Given the description of an element on the screen output the (x, y) to click on. 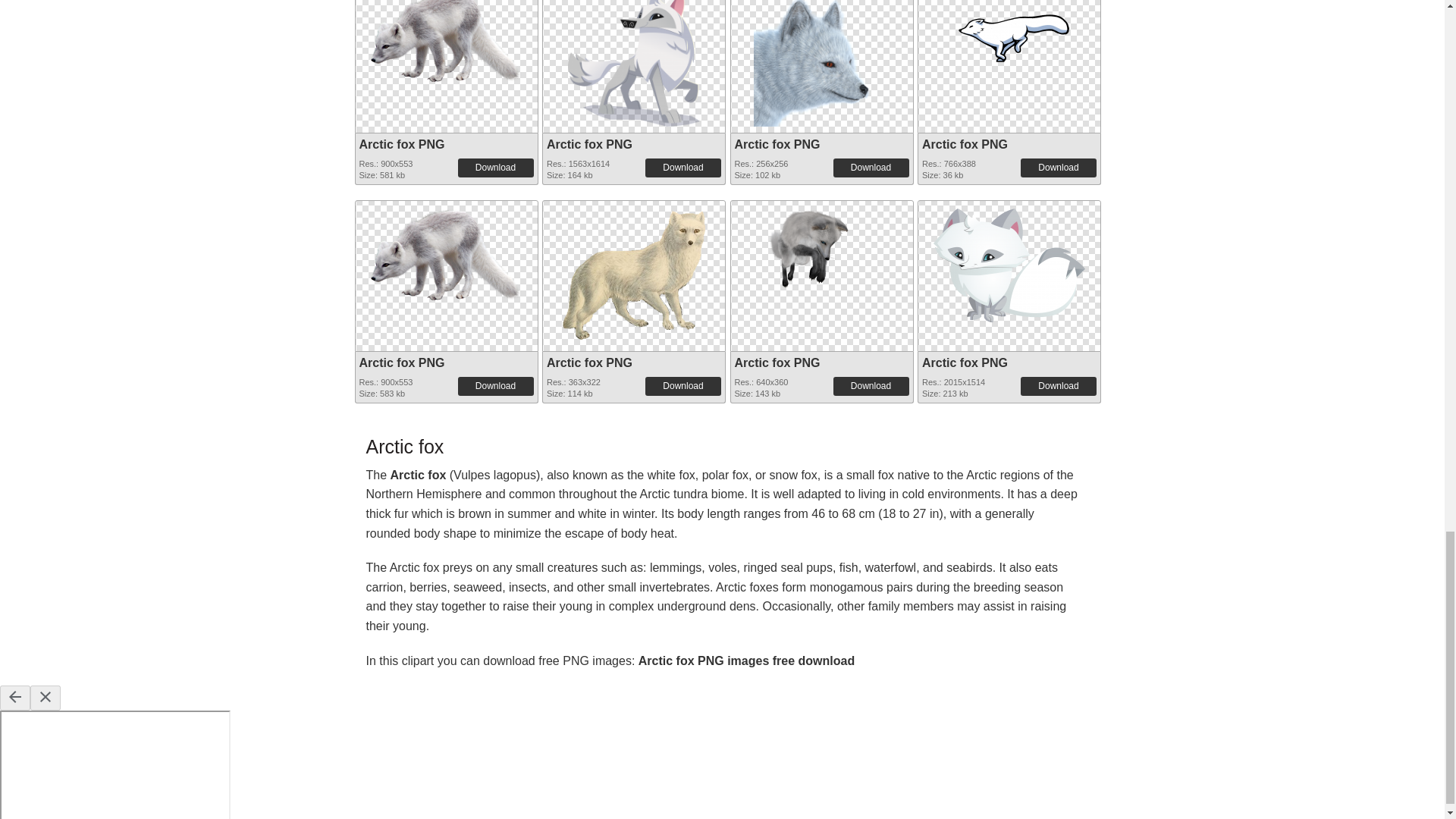
Arctic fox PNG (633, 53)
Download (496, 167)
Arctic fox PNG (821, 63)
Arctic fox PNG (964, 144)
Download (1058, 167)
Arctic fox PNG (589, 144)
Arctic fox PNG (821, 53)
Arctic fox PNG (776, 144)
Download (870, 167)
Arctic fox PNG (402, 144)
Download (682, 167)
Arctic fox PNG (445, 41)
Arctic fox PNG (445, 31)
Arctic fox PNG (633, 63)
